Given the description of an element on the screen output the (x, y) to click on. 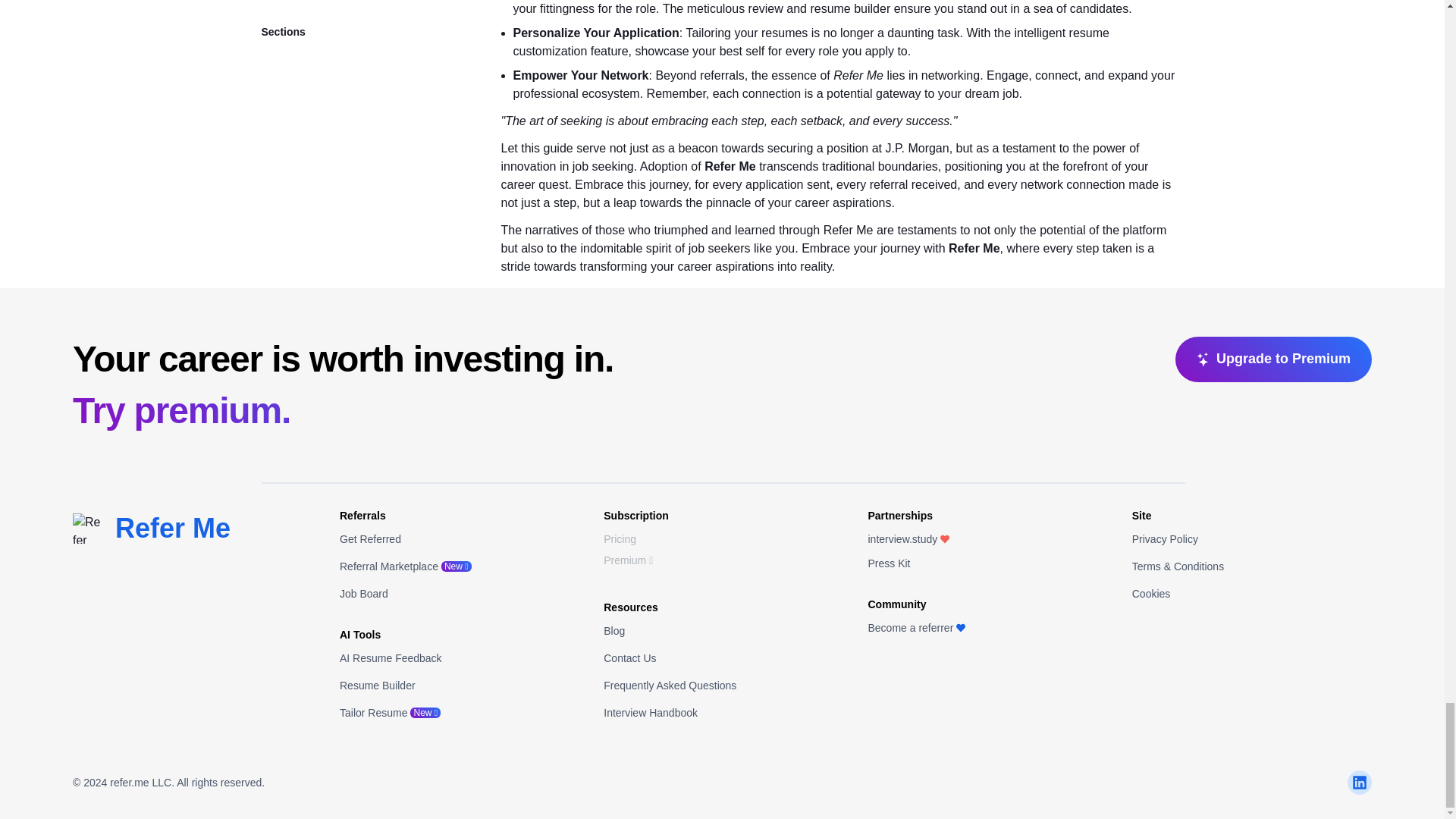
Refer Me (172, 527)
Job Board (363, 593)
Become a referrer (916, 627)
Interview Handbook (650, 712)
Contact Us (630, 657)
Privacy Policy (1165, 539)
Upgrade to Premium (1272, 359)
Pricing (620, 538)
Pricing (620, 539)
AI Resume Feedback (390, 657)
